Given the description of an element on the screen output the (x, y) to click on. 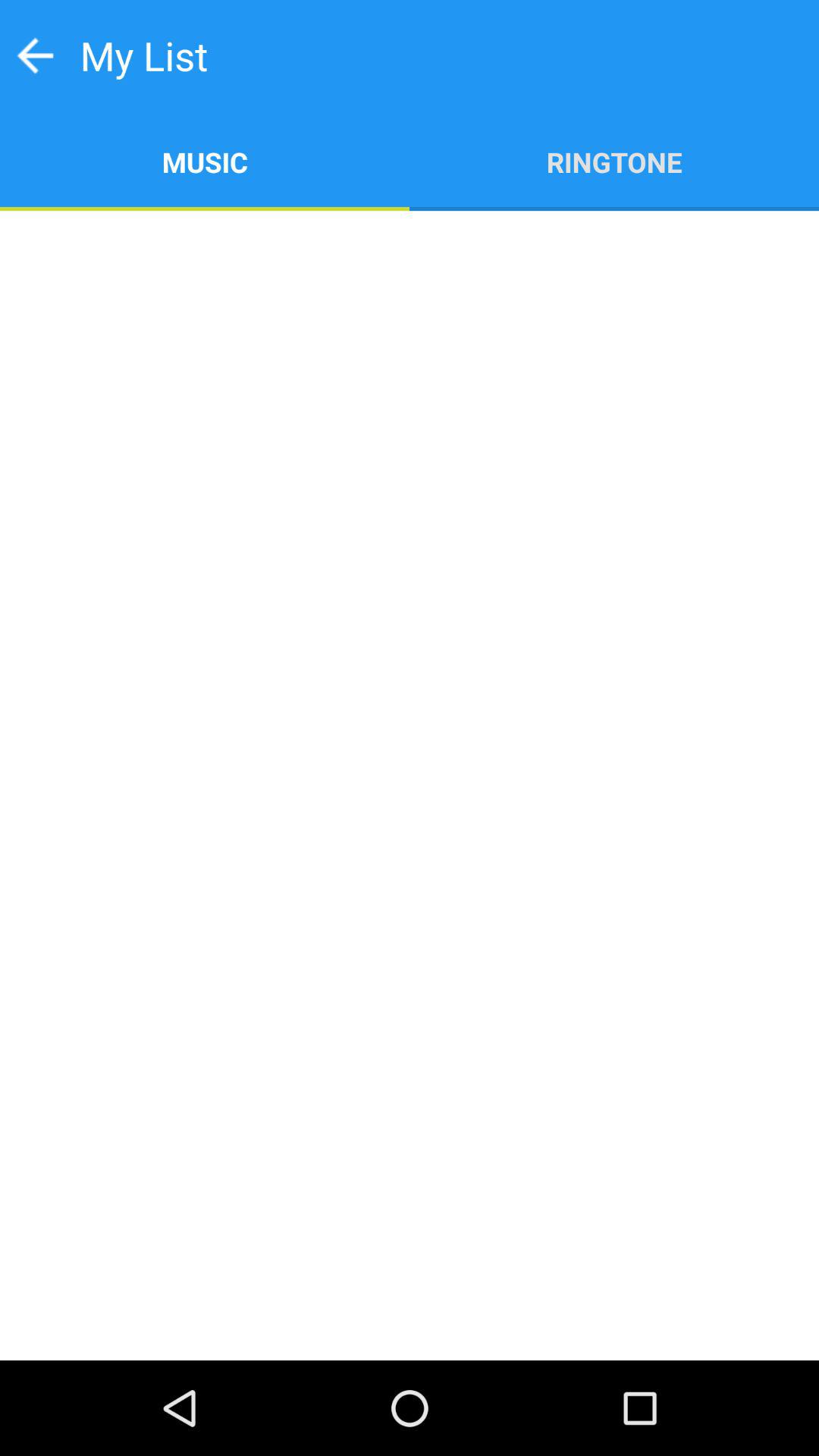
press music item (204, 161)
